Given the description of an element on the screen output the (x, y) to click on. 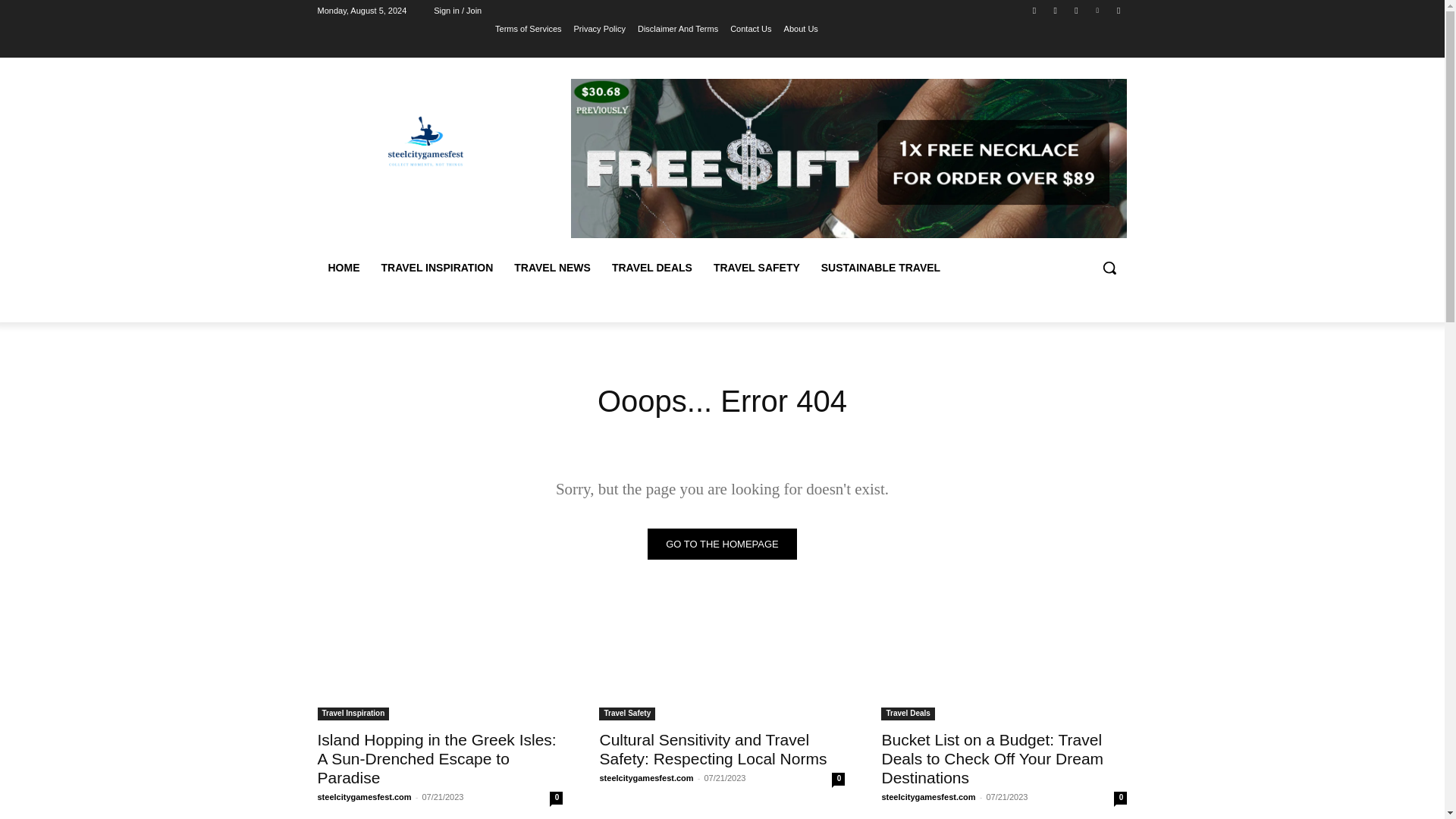
Terms of Services (527, 28)
TRAVEL INSPIRATION (436, 267)
HOME (343, 267)
Contact Us (750, 28)
Instagram (1055, 9)
Twitter (1075, 9)
Disclaimer And Terms (677, 28)
TRAVEL SAFETY (756, 267)
Facebook (1034, 9)
